Given the description of an element on the screen output the (x, y) to click on. 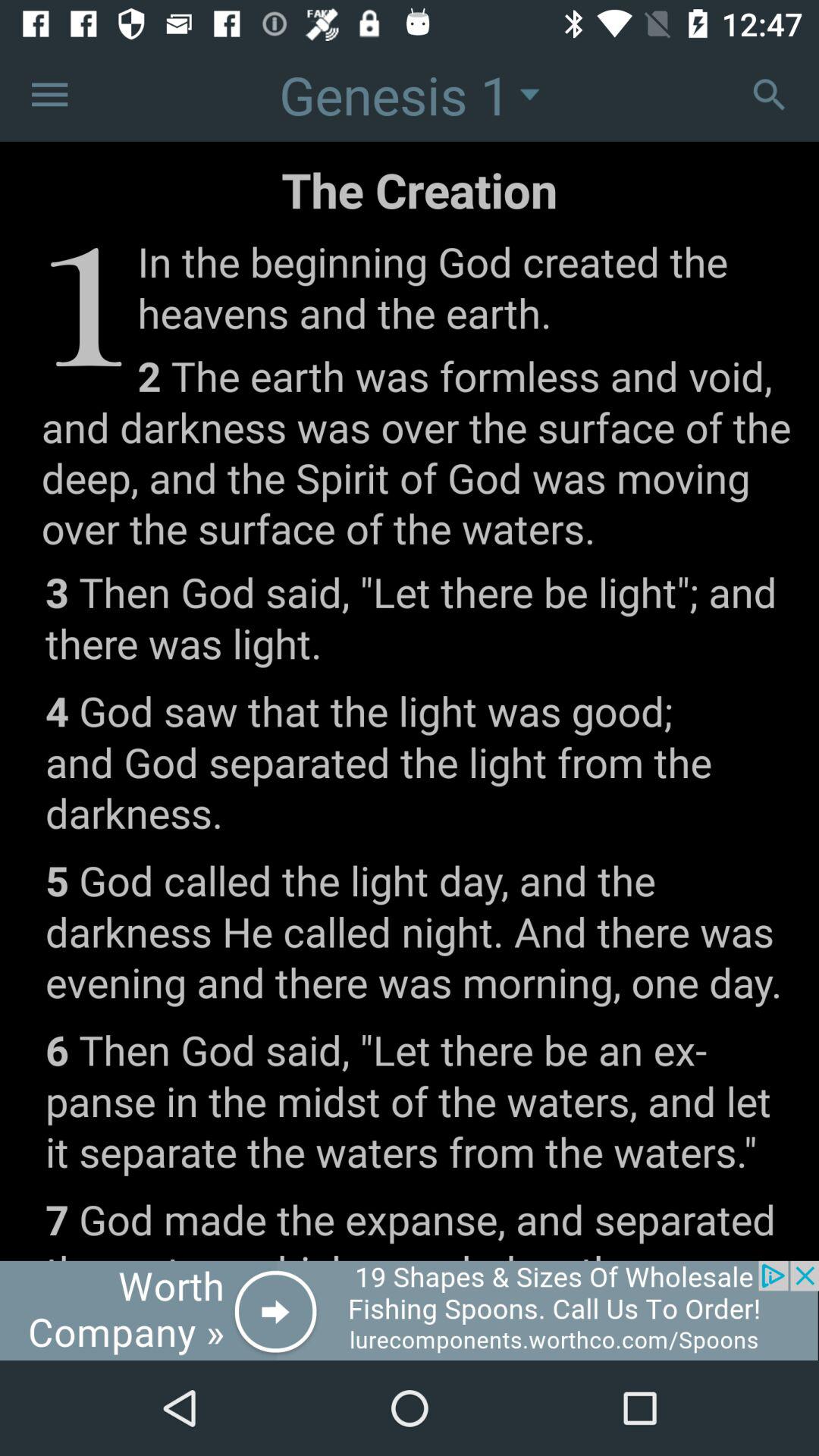
advertisement (409, 1310)
